Given the description of an element on the screen output the (x, y) to click on. 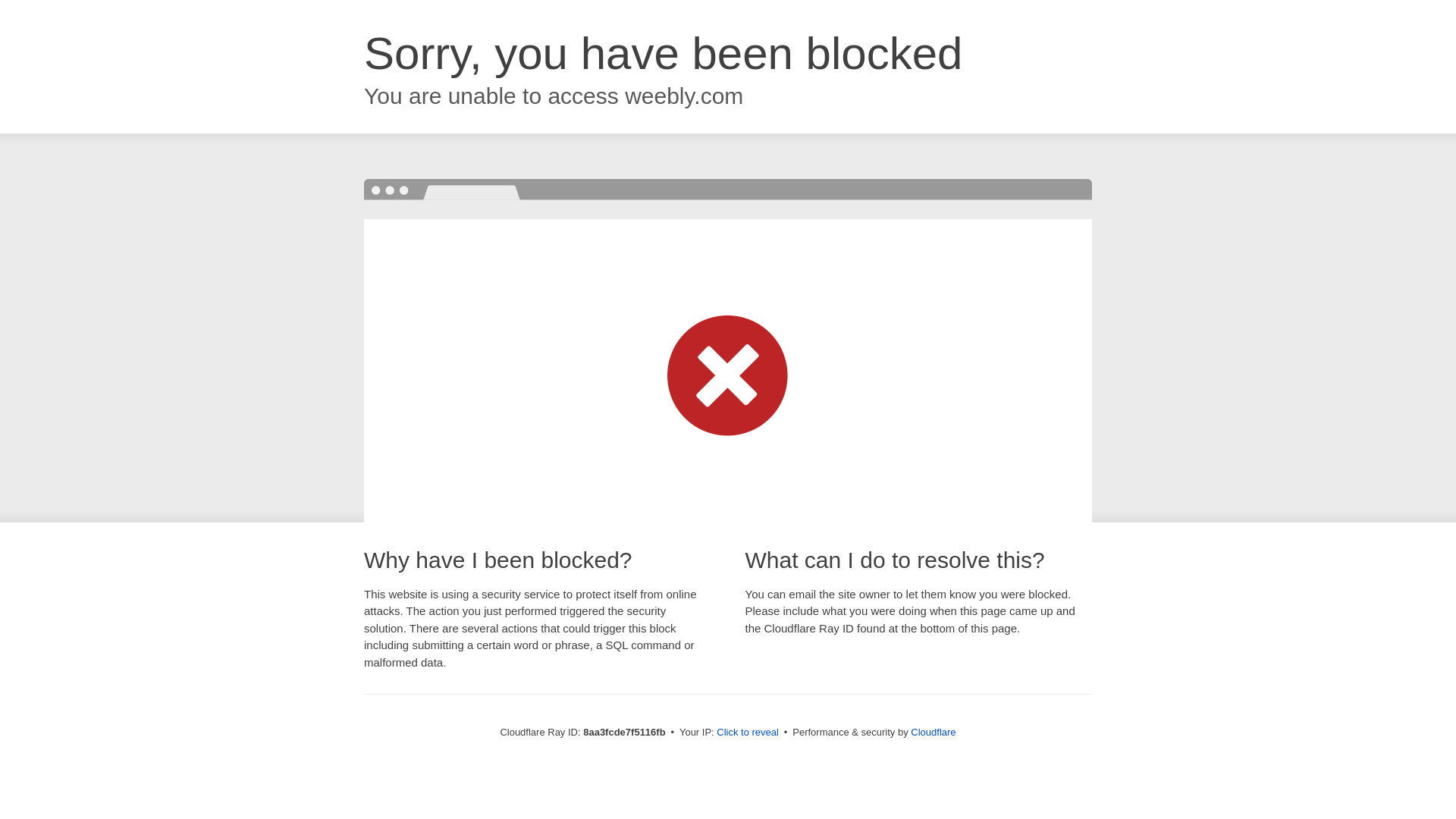
Click to reveal (747, 732)
Cloudflare (933, 731)
